Given the description of an element on the screen output the (x, y) to click on. 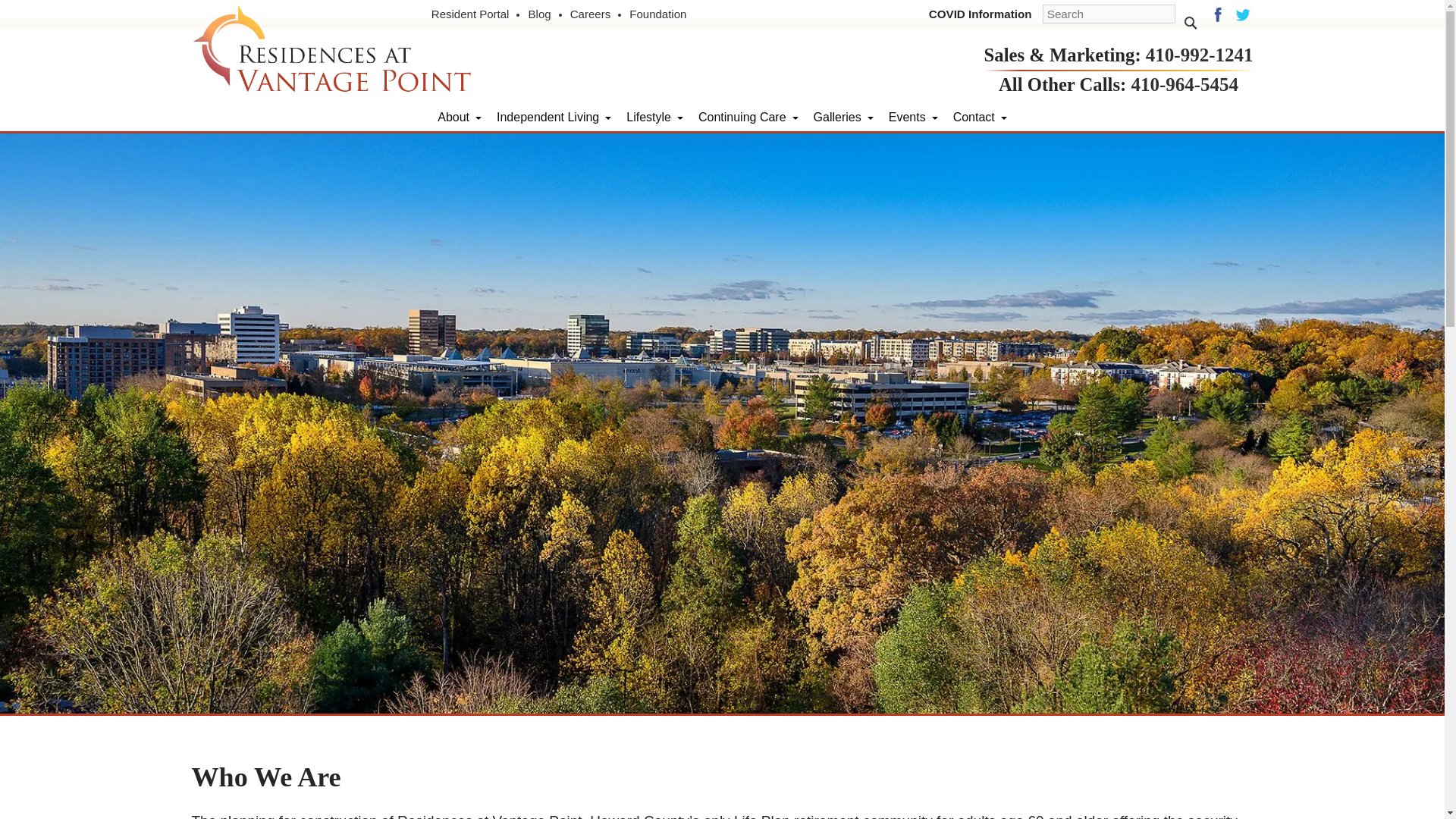
Careers (596, 13)
link will open in a new tab (658, 13)
Blog (546, 13)
Resident Portal (476, 13)
